Given the description of an element on the screen output the (x, y) to click on. 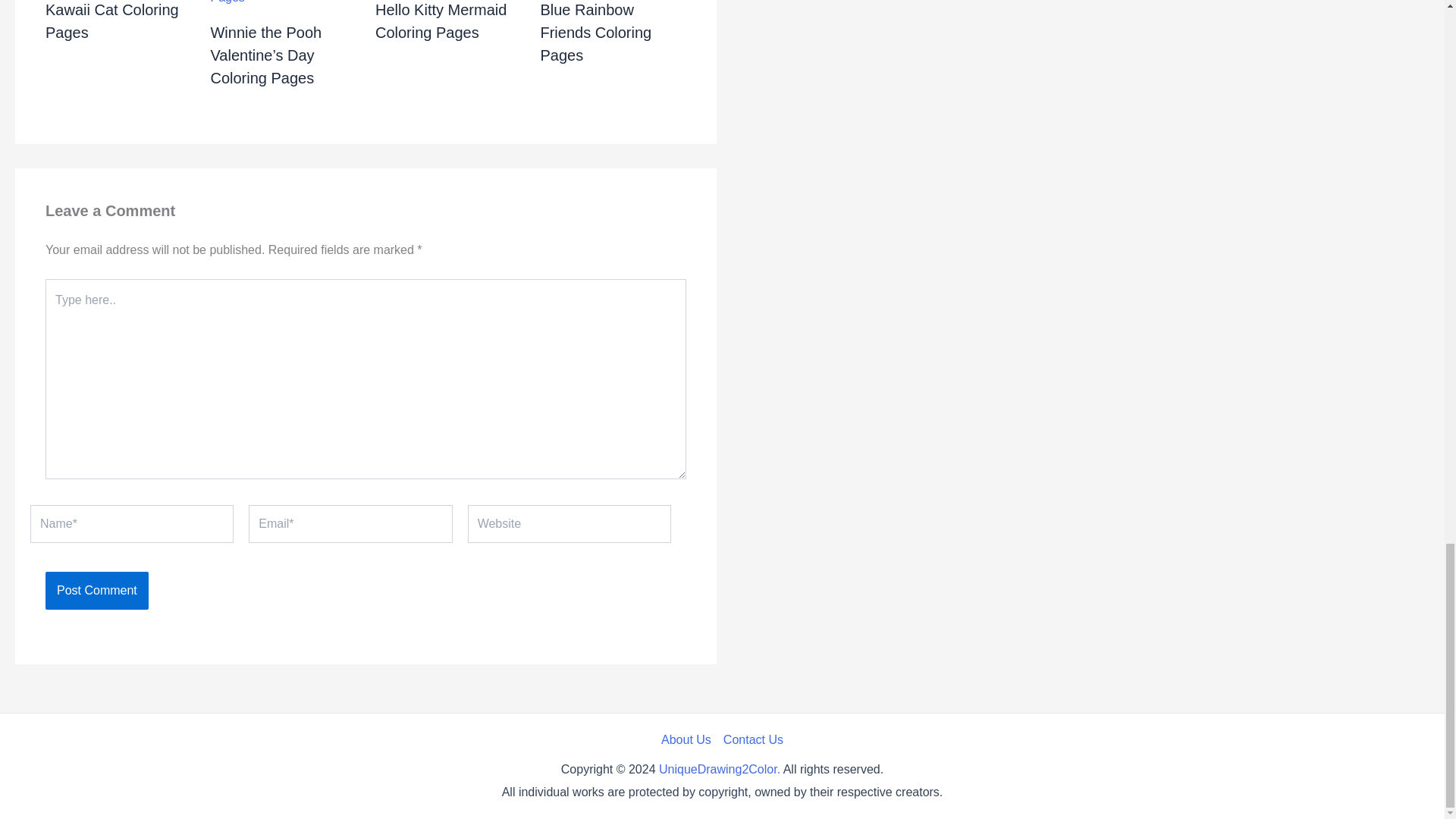
Kawaii Cat Coloring Pages (112, 20)
Blue Rainbow Friends Coloring Pages (595, 32)
Post Comment (96, 590)
Hello Kitty Mermaid Coloring Pages (440, 20)
